Given the description of an element on the screen output the (x, y) to click on. 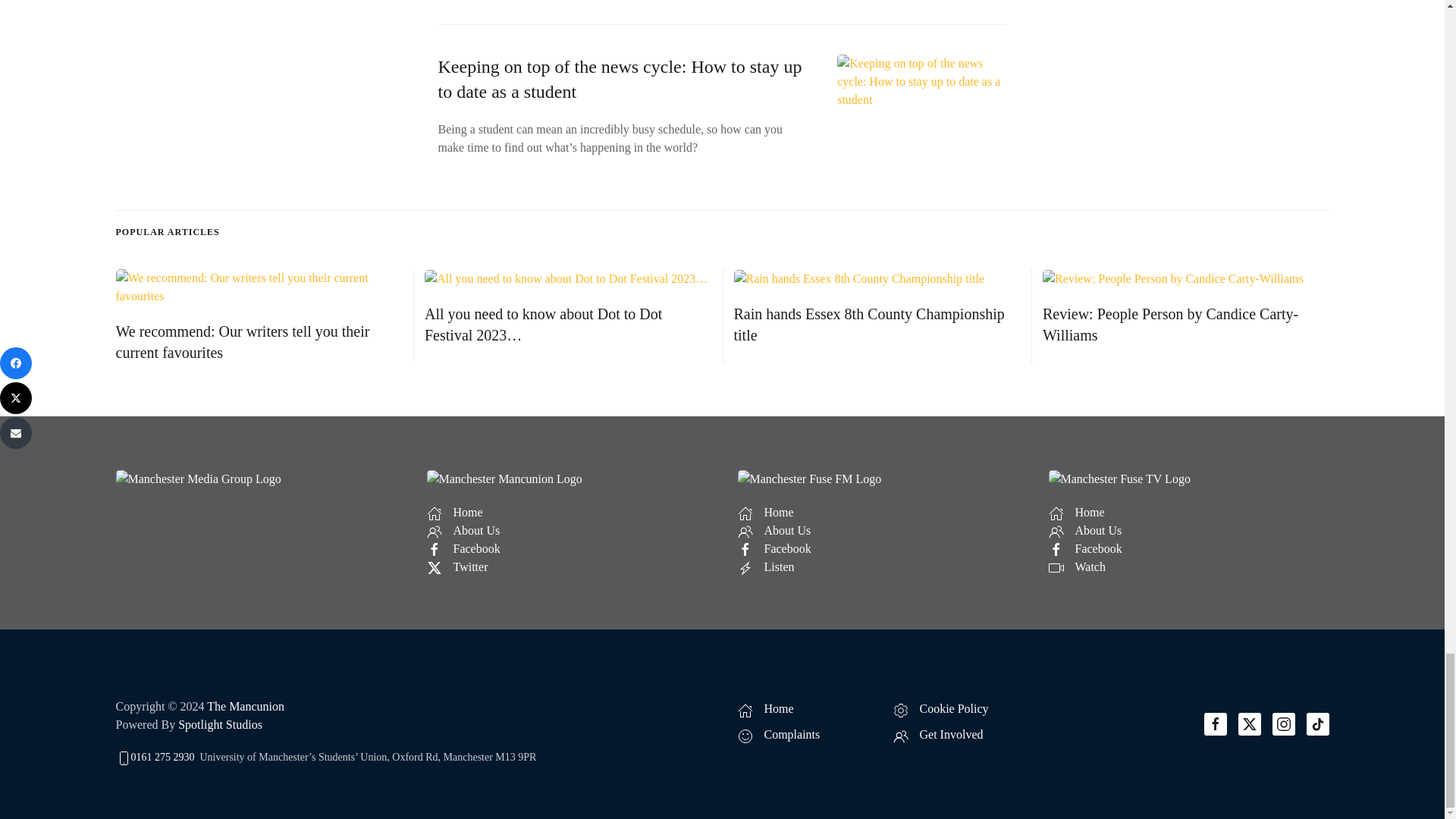
The Mancunion (244, 706)
Web Design by Spotlight Studios (219, 724)
